Given the description of an element on the screen output the (x, y) to click on. 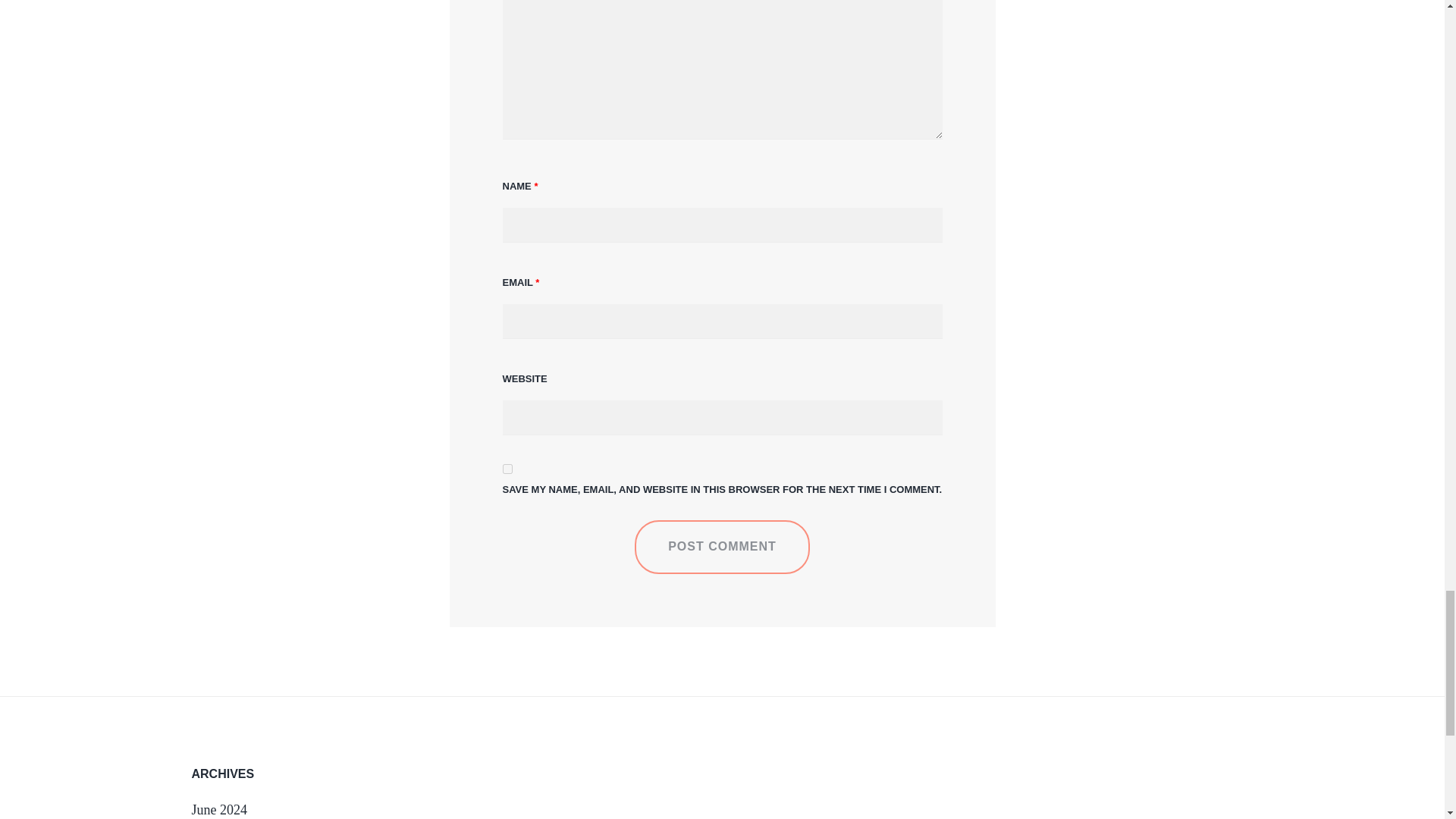
Post Comment (721, 546)
June 2024 (218, 809)
yes (507, 469)
Post Comment (721, 546)
